Given the description of an element on the screen output the (x, y) to click on. 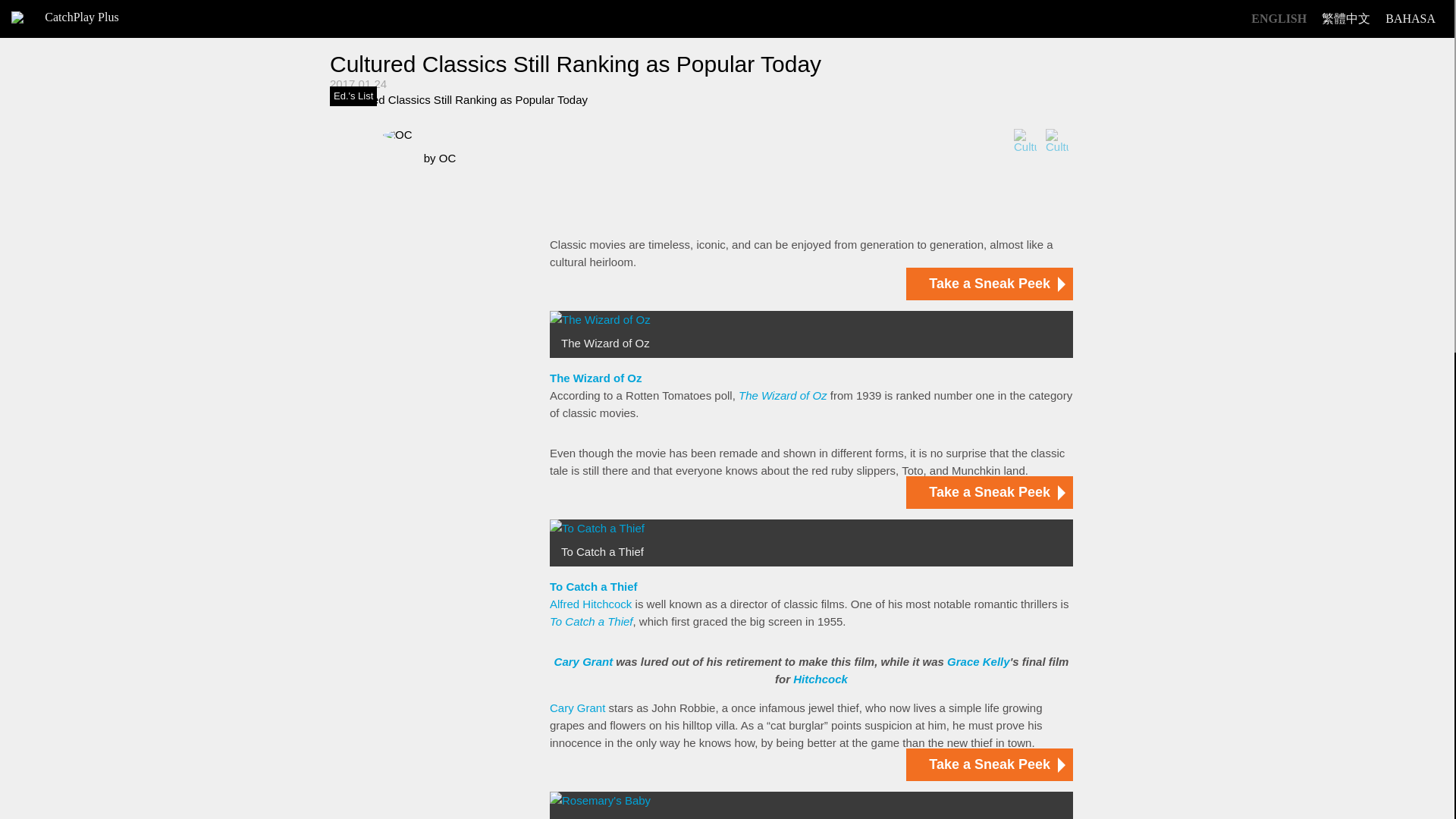
ENGLISH (1278, 19)
To Catch a Thief (591, 621)
BAHASA (1409, 19)
Cary Grant (583, 661)
The Wizard of Oz (596, 377)
To Catch a Thief (593, 585)
The Wizard of Oz (782, 395)
Grace Kelly (978, 661)
Cary Grant (577, 707)
Hitchcock (820, 678)
Alfred Hitchcock (590, 603)
